Given the description of an element on the screen output the (x, y) to click on. 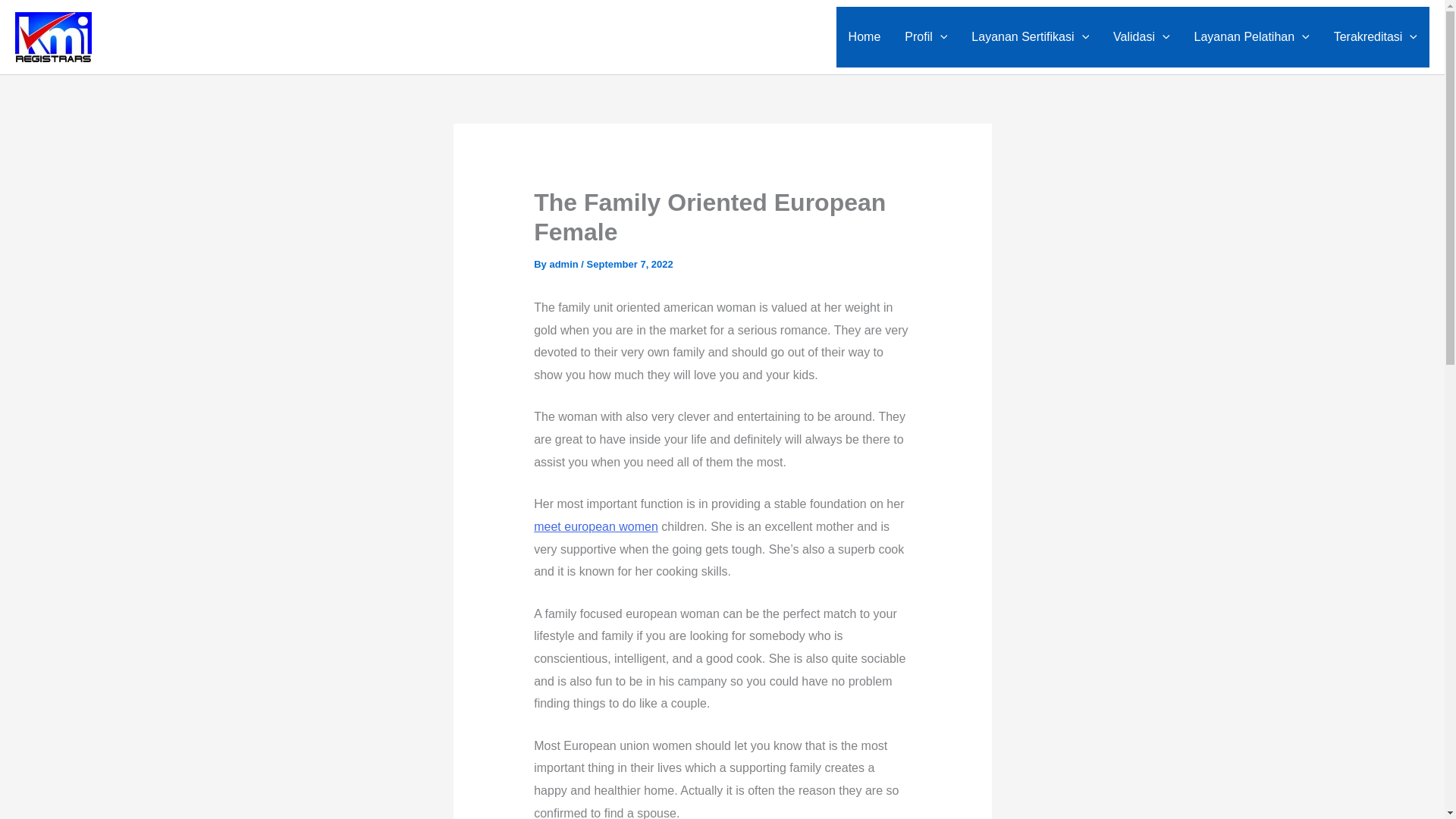
Home (864, 36)
Terakreditasi (1375, 36)
Layanan Sertifikasi (1029, 36)
Validasi (1140, 36)
Profil (925, 36)
View all posts by admin (564, 264)
Layanan Pelatihan (1252, 36)
